Given the description of an element on the screen output the (x, y) to click on. 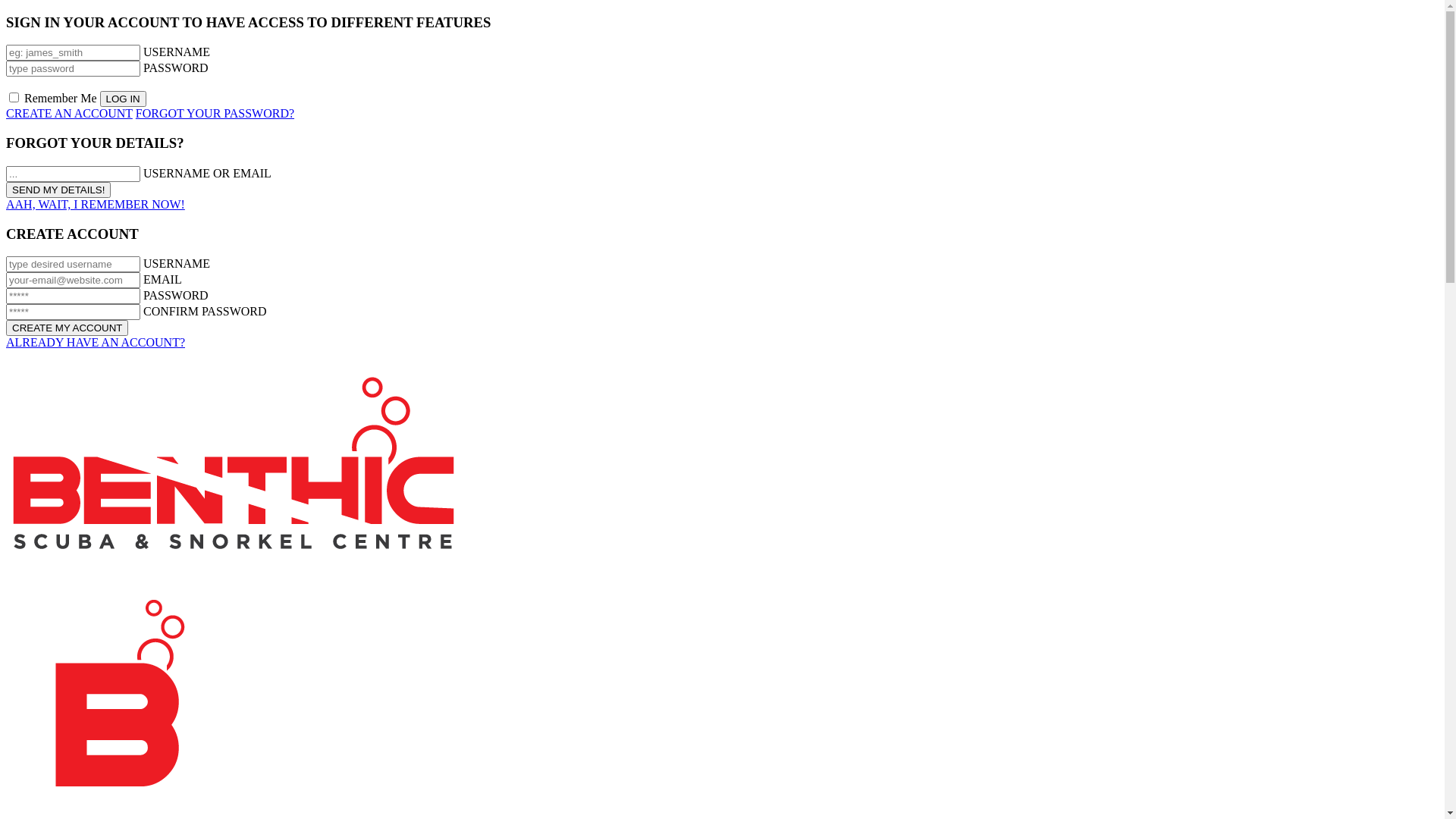
Windsor, Ontario, Canada Element type: hover (233, 462)
AAH, WAIT, I REMEMBER NOW! Element type: text (95, 203)
SEND MY DETAILS! Element type: text (58, 189)
ALREADY HAVE AN ACCOUNT? Element type: text (95, 341)
LOG IN Element type: text (123, 98)
CREATE MY ACCOUNT Element type: text (67, 327)
CREATE AN ACCOUNT Element type: text (69, 112)
FORGOT YOUR PASSWORD? Element type: text (214, 112)
